Given the description of an element on the screen output the (x, y) to click on. 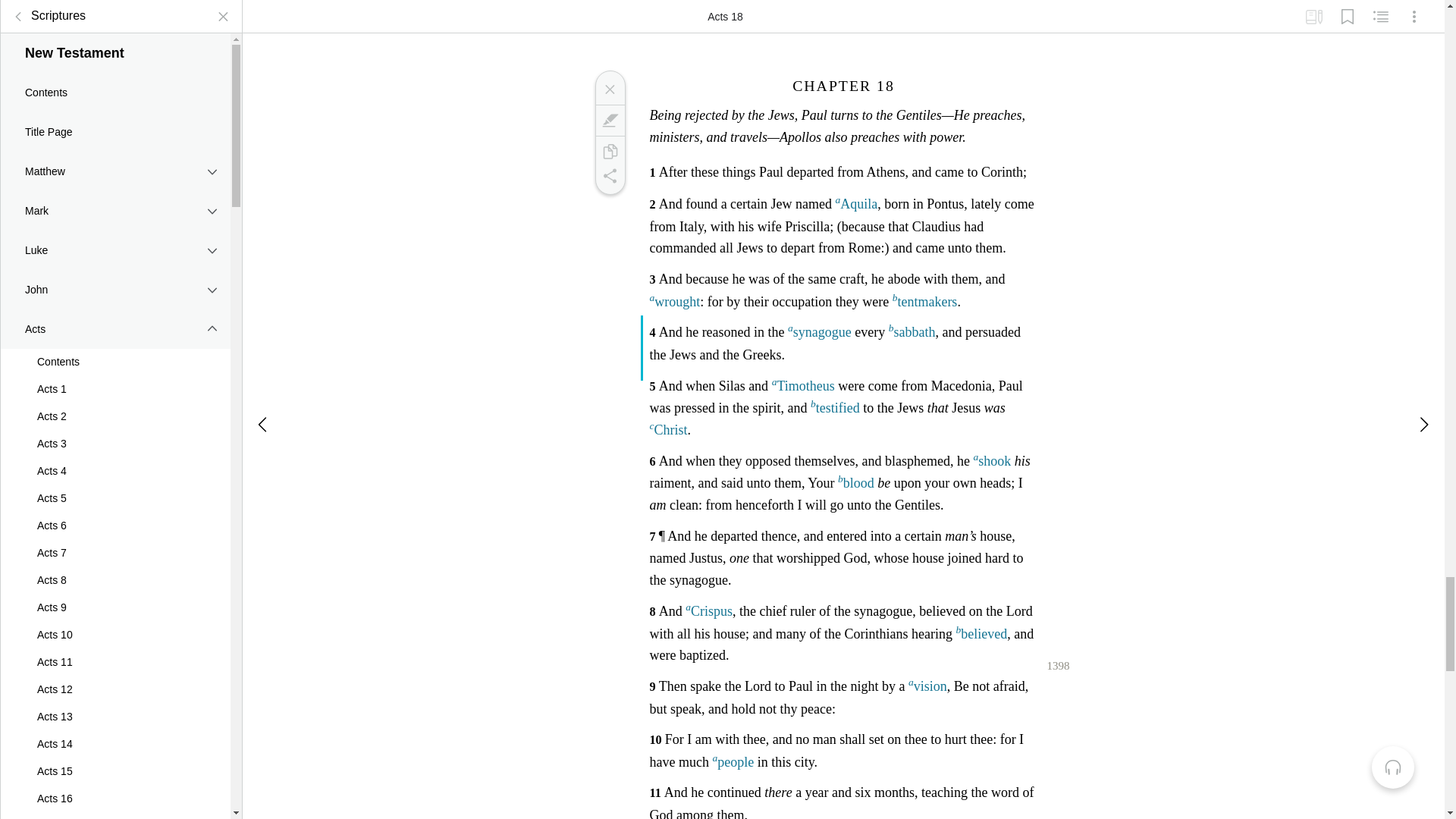
Acts 13 (115, 705)
Table of Contents (17, 8)
Mark (608, 120)
Share (608, 175)
Bookmarks (1347, 11)
Acts 2 (115, 405)
Acts 3 (115, 432)
Acts 10 (115, 624)
Copy (608, 151)
Acts 5 (115, 487)
Mark (115, 199)
Acts 6 (115, 514)
Acts 15 (115, 759)
Study Sets (1313, 11)
John (115, 278)
